Given the description of an element on the screen output the (x, y) to click on. 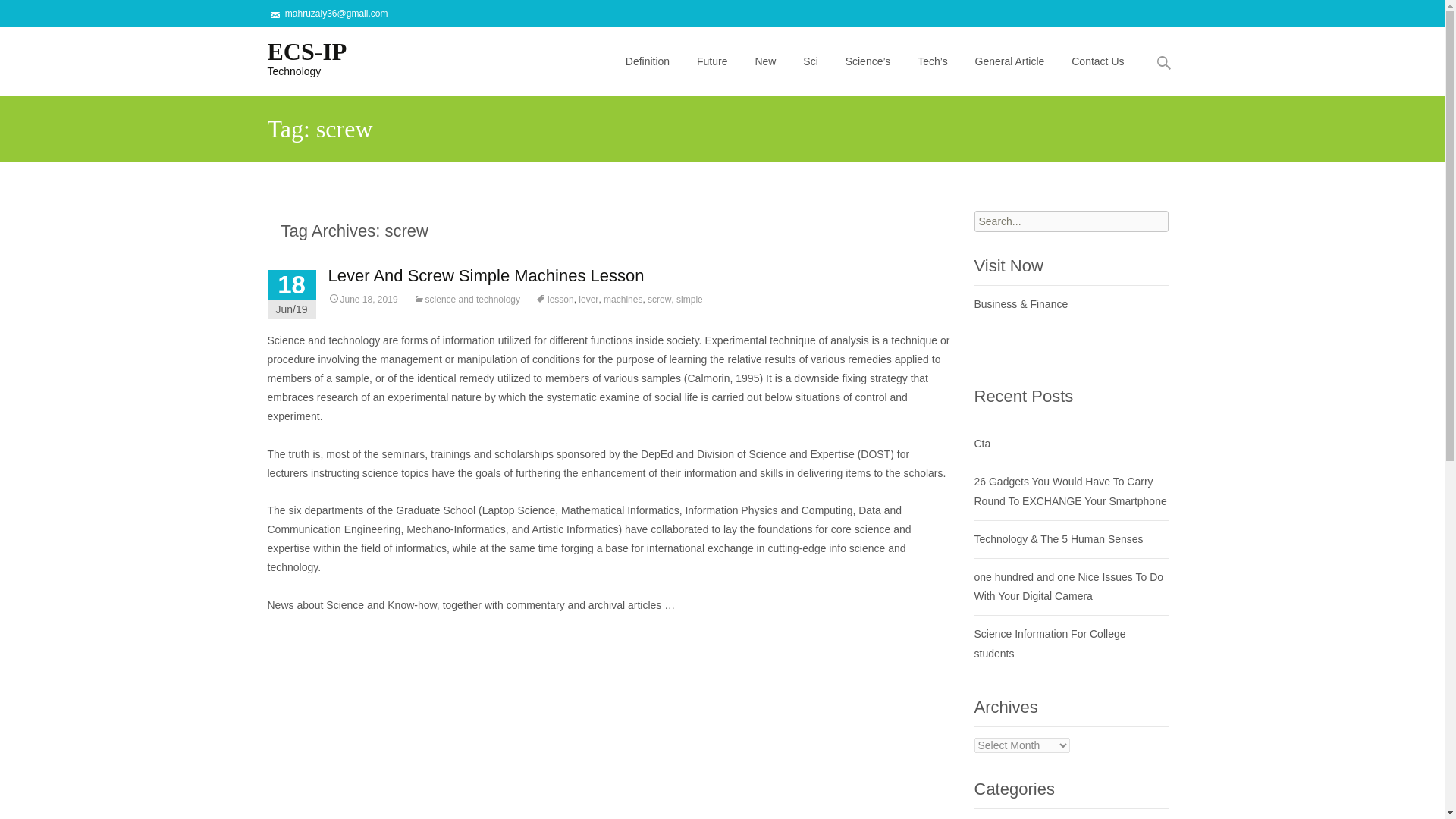
Search for: (1070, 220)
simple (690, 299)
science and technology (466, 299)
lesson (554, 299)
Definition (646, 61)
ECS-IP (294, 57)
lever (588, 299)
Skip to content (648, 36)
Contact Us (1097, 61)
Search (18, 14)
Permalink to Lever And Screw Simple Machines Lesson (294, 57)
General Article (362, 299)
Search for: (1009, 61)
machines (1163, 62)
